Given the description of an element on the screen output the (x, y) to click on. 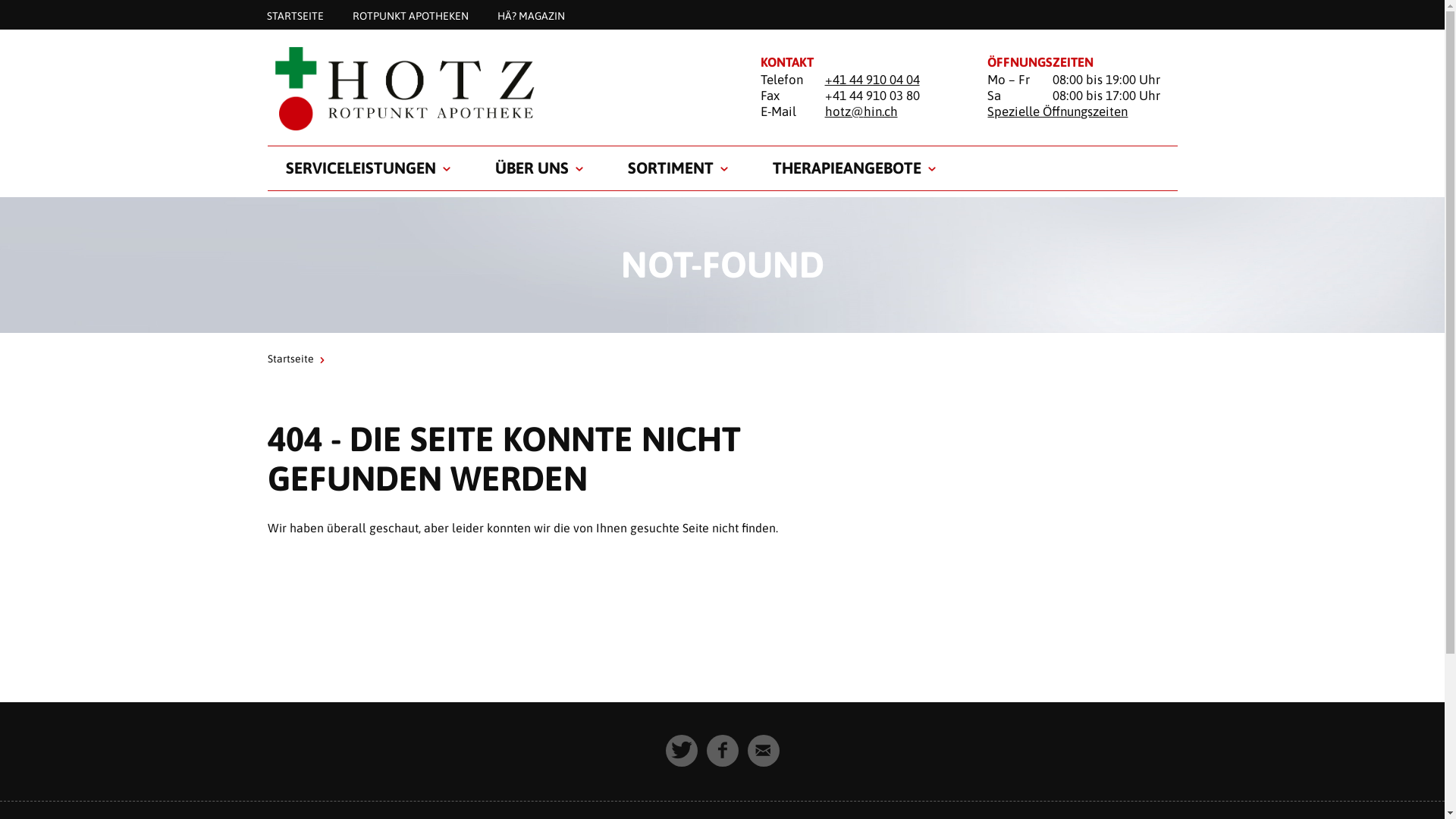
tweet Element type: text (681, 750)
Startseite Element type: text (289, 358)
+41 44 910 04 04 Element type: text (872, 79)
Startseite Element type: hover (493, 88)
ROTPUNKT APOTHEKEN Element type: text (410, 15)
SERVICELEISTUNGEN Element type: text (359, 168)
STARTSEITE Element type: text (294, 15)
THERAPIEANGEBOTE Element type: text (845, 168)
SORTIMENT Element type: text (670, 168)
teilen Element type: text (722, 750)
mail Element type: text (763, 750)
hotz@hin.ch Element type: text (861, 111)
